Given the description of an element on the screen output the (x, y) to click on. 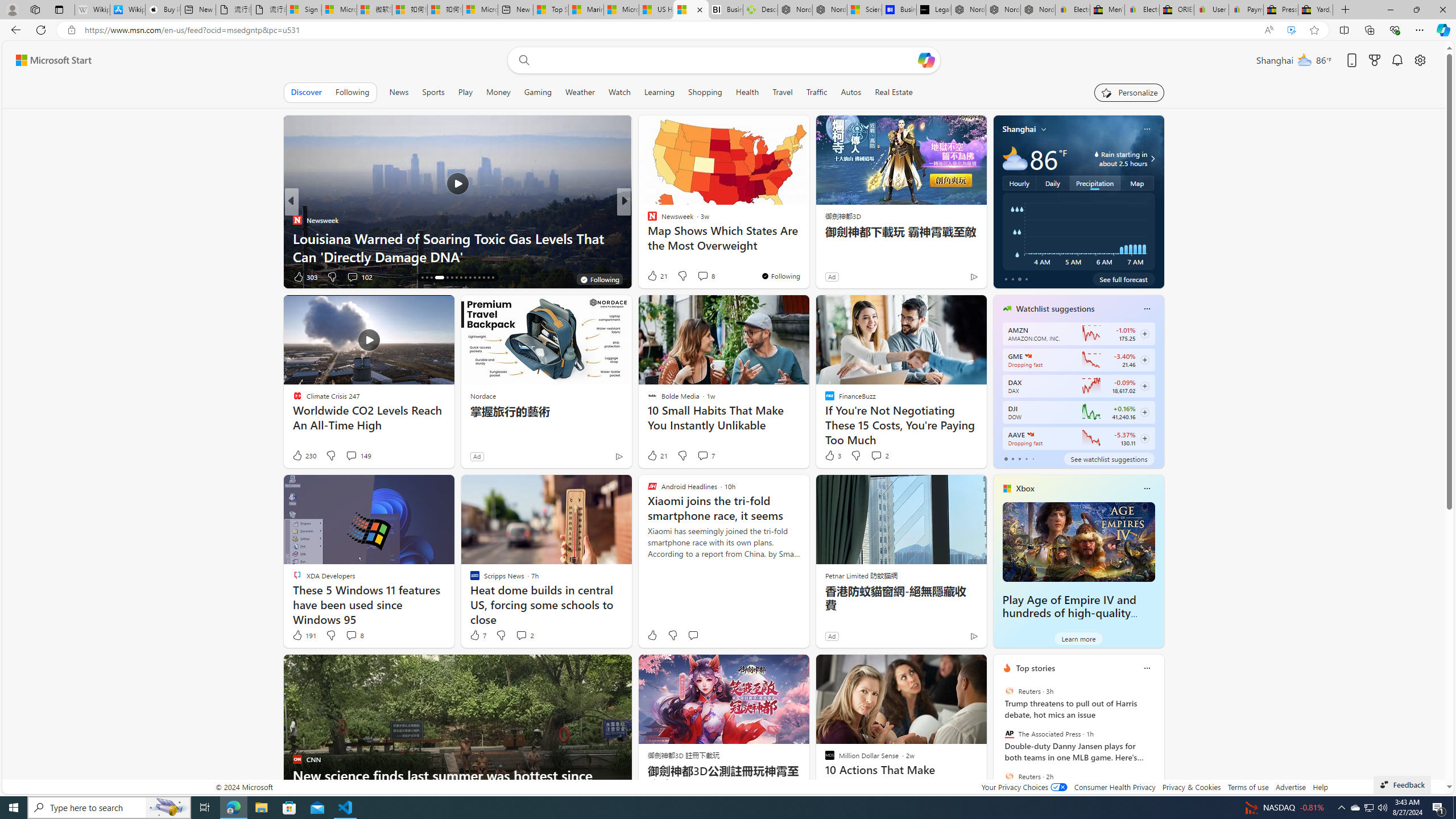
GAMESTOP CORP. (1028, 355)
AutomationID: tab-24 (465, 277)
Map (1137, 183)
See watchlist suggestions (1108, 459)
See full forecast (1123, 278)
View comments 265 Comment (709, 276)
Learn more (1078, 638)
